Given the description of an element on the screen output the (x, y) to click on. 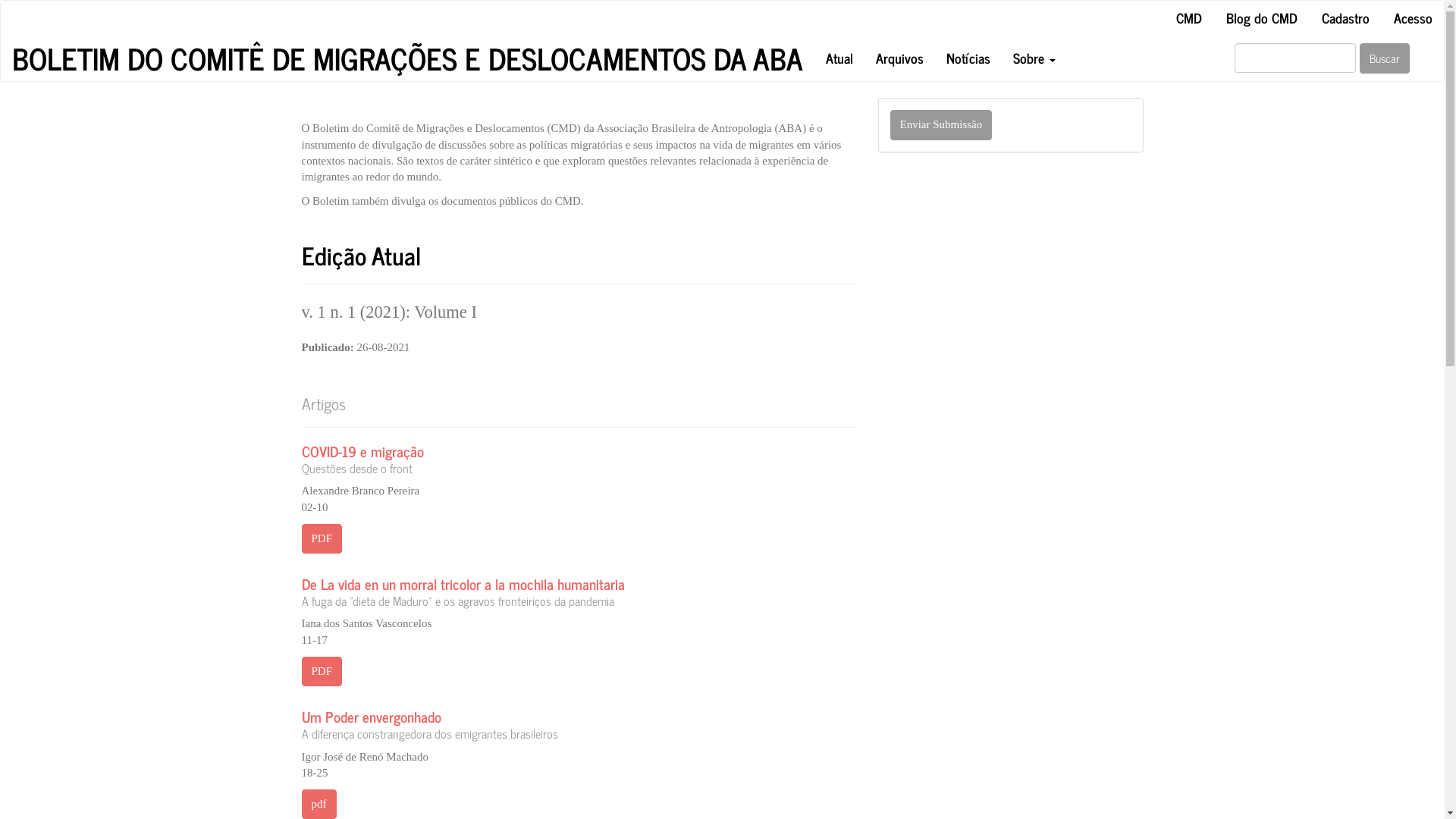
CMD Element type: text (1188, 17)
PDF Element type: text (321, 671)
Cadastro Element type: text (1345, 17)
Arquivos Element type: text (899, 58)
Sobre Element type: text (1033, 58)
Acesso Element type: text (1412, 17)
Blog do CMD Element type: text (1261, 17)
Atual Element type: text (839, 58)
PDF Element type: text (321, 538)
Buscar Element type: text (1384, 57)
